Given the description of an element on the screen output the (x, y) to click on. 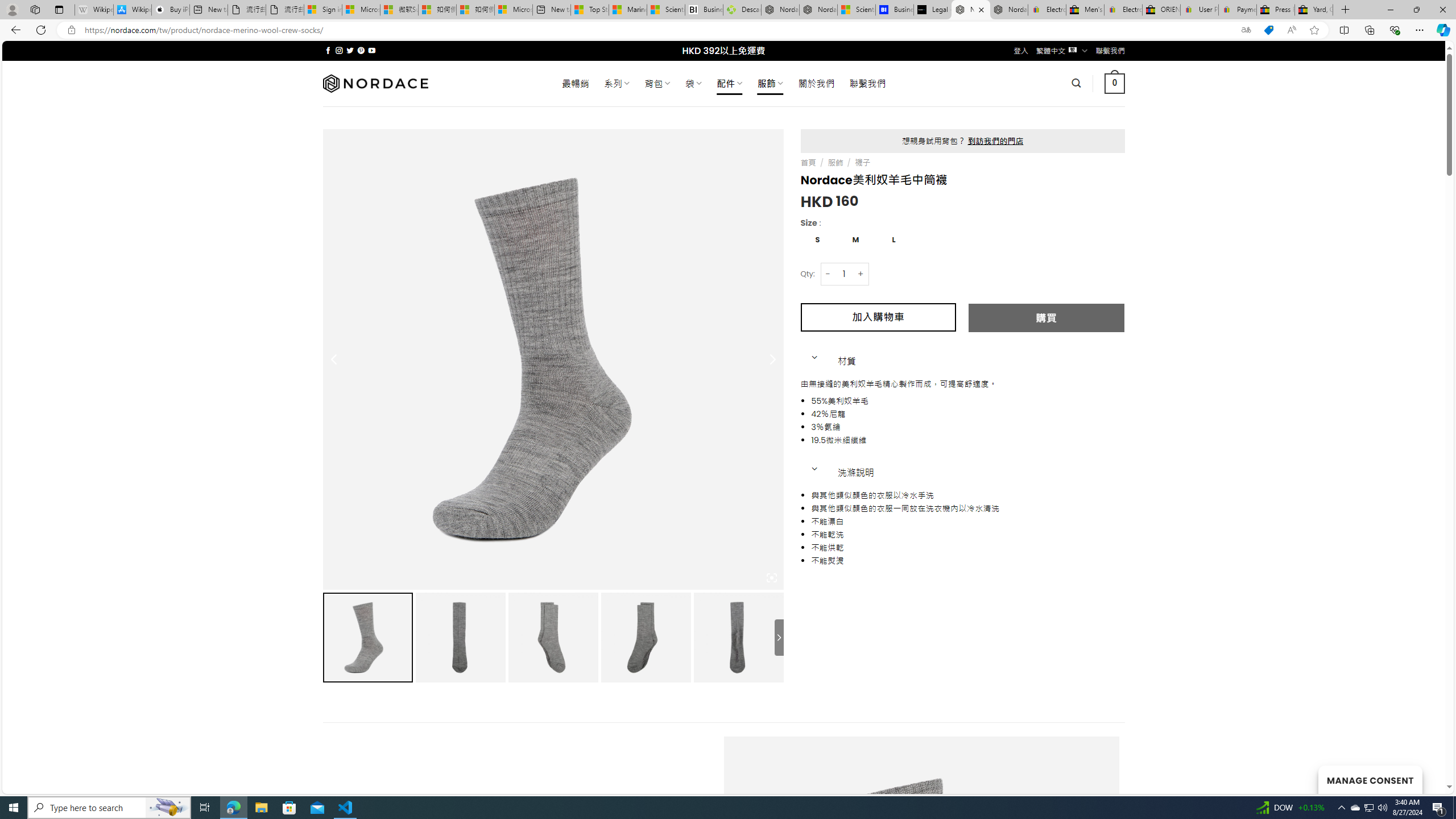
 0  (1115, 83)
+ (861, 273)
Follow on YouTube (371, 50)
